Given the description of an element on the screen output the (x, y) to click on. 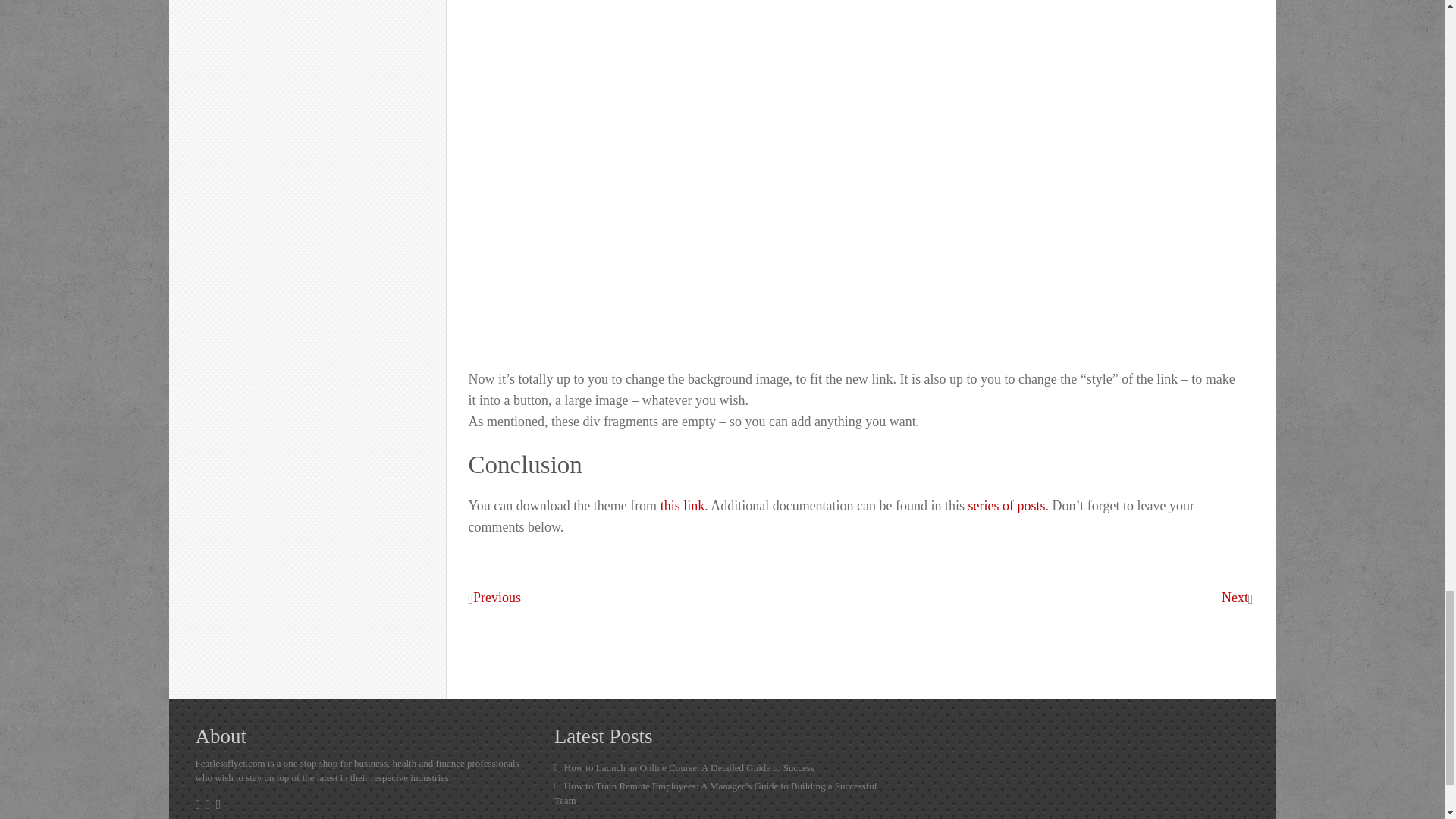
How to Launch an Online Course: A Detailed Guide to Success (721, 767)
this link (682, 506)
Next (1234, 597)
series of posts (1006, 506)
Previous (497, 597)
